Given the description of an element on the screen output the (x, y) to click on. 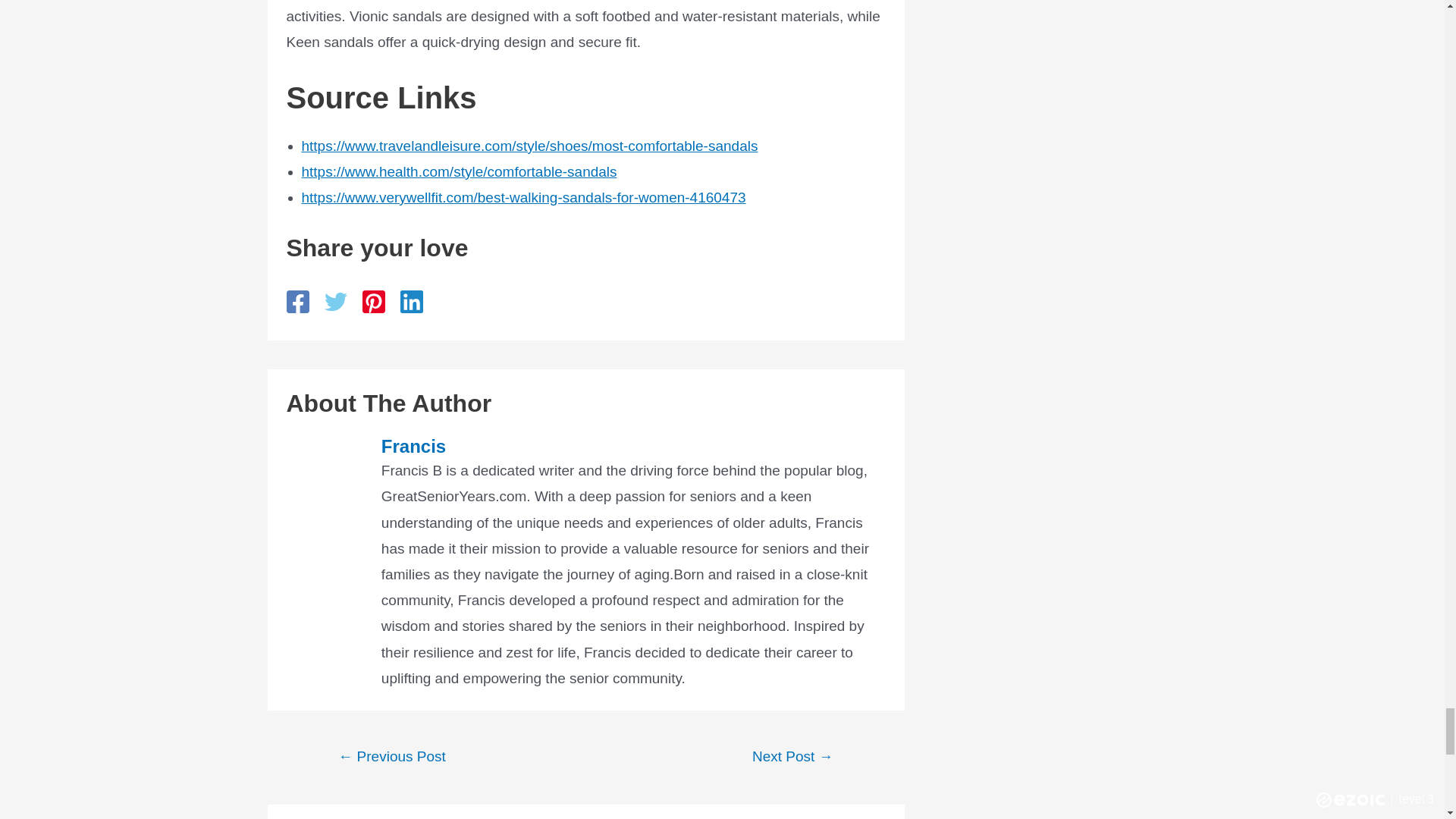
Senior Aid Helper Calls - Compassionate Care Support (793, 757)
